Given the description of an element on the screen output the (x, y) to click on. 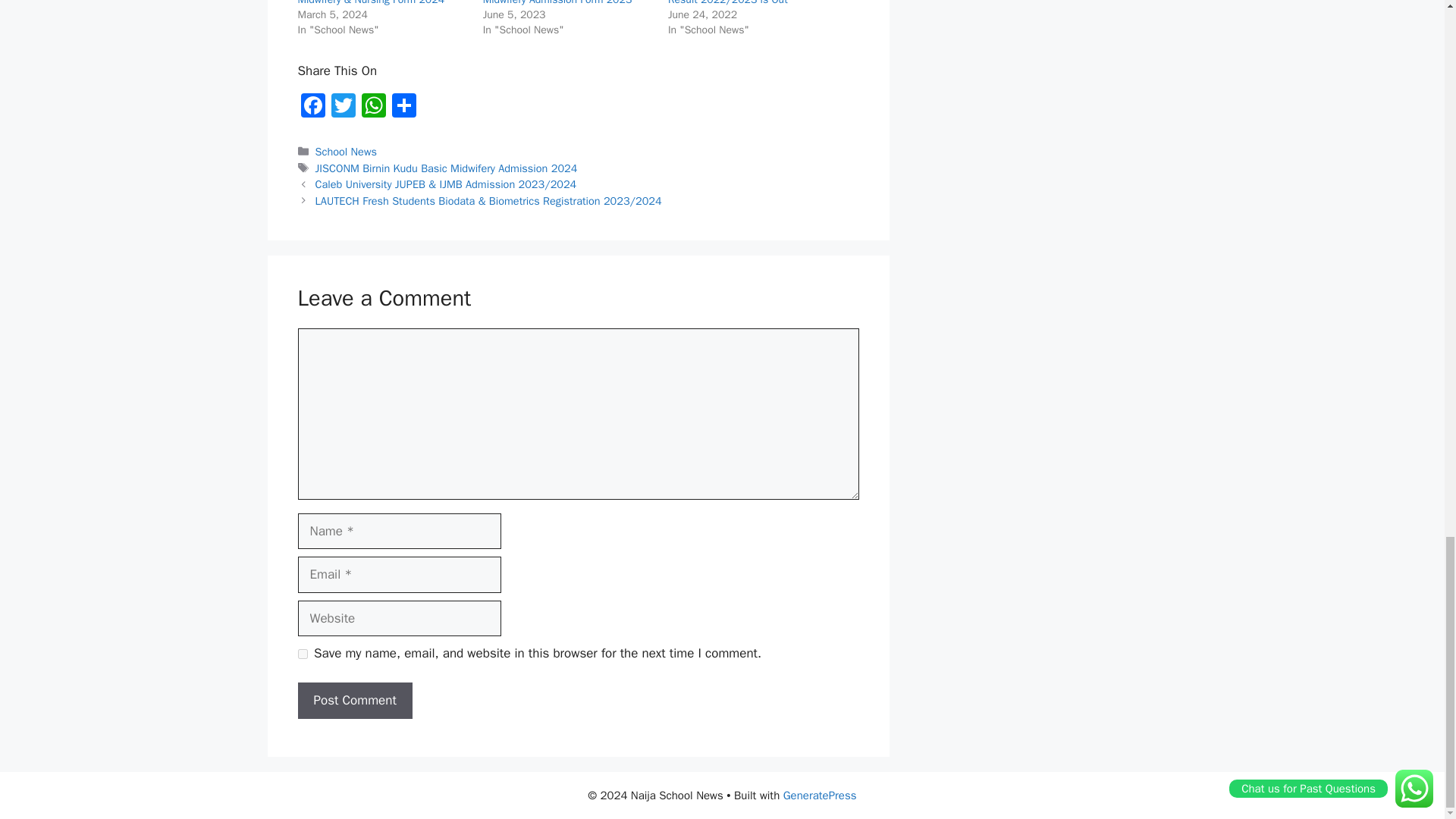
WhatsApp (373, 107)
Facebook (312, 107)
Twitter (342, 107)
Post Comment (354, 700)
yes (302, 654)
GeneratePress (820, 795)
School News (346, 151)
WhatsApp (373, 107)
Post Comment (354, 700)
Twitter (342, 107)
